Given the description of an element on the screen output the (x, y) to click on. 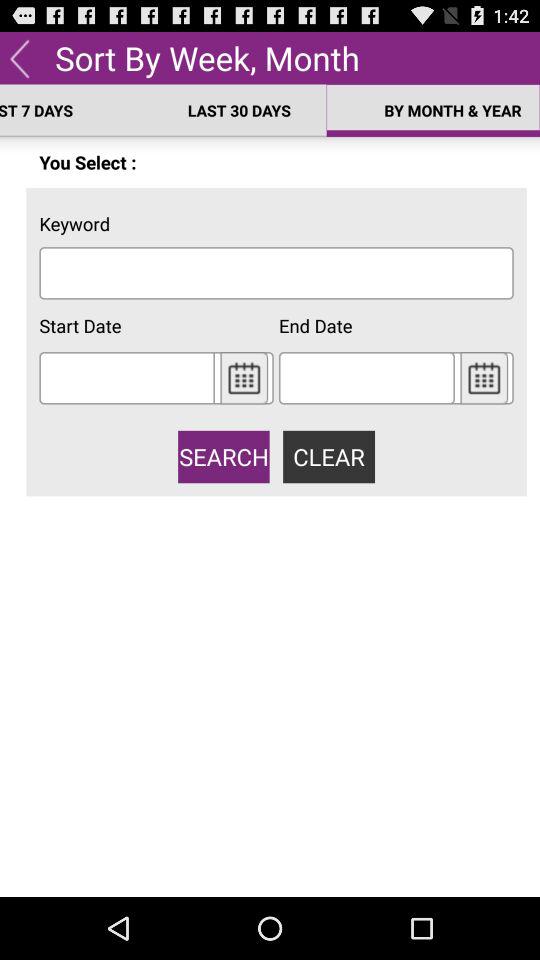
search for keyword (276, 272)
